Given the description of an element on the screen output the (x, y) to click on. 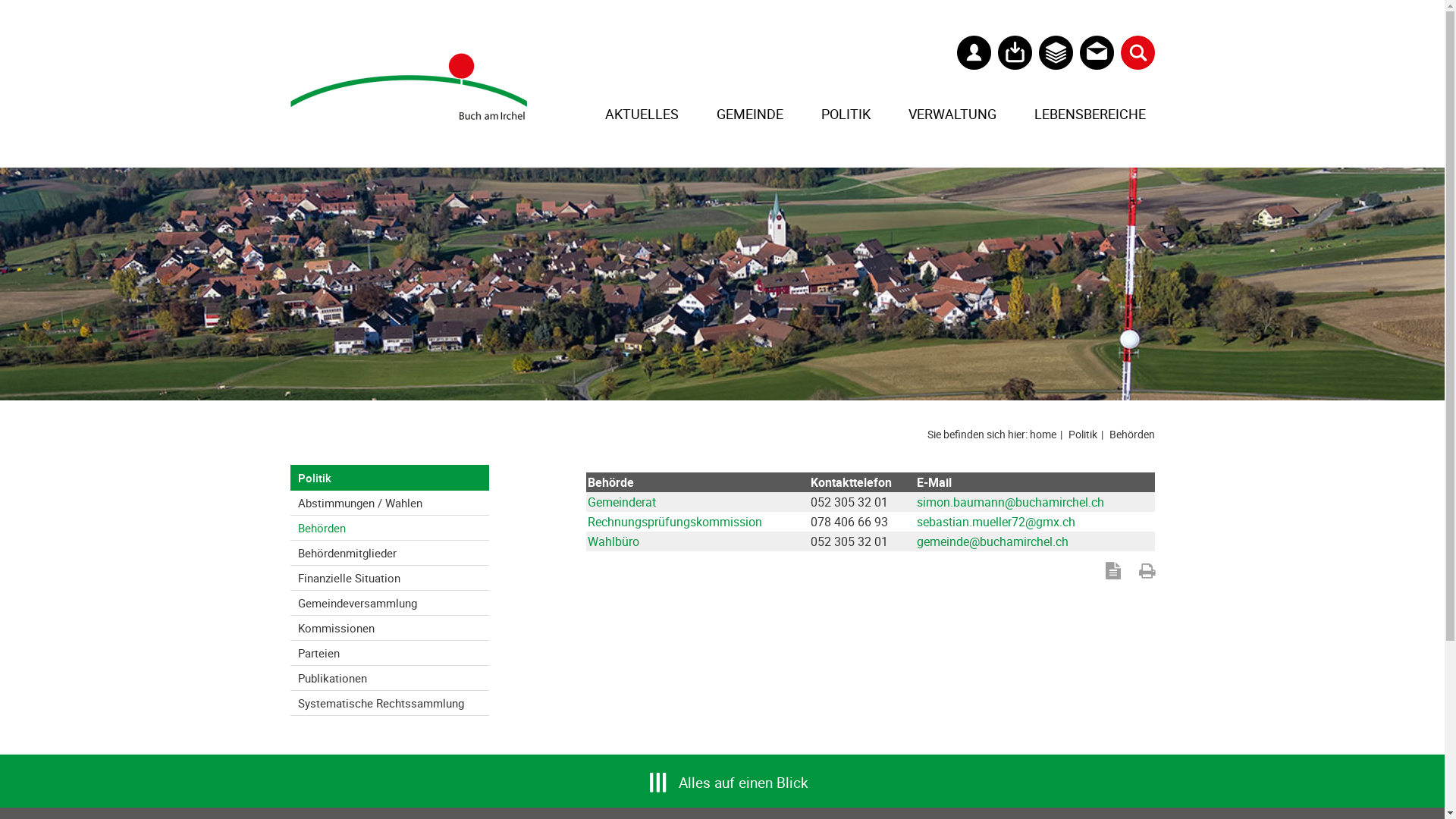
Alles auf einen Blick Element type: text (722, 780)
simon.baumann@buchamirchel.ch Element type: text (1010, 501)
sebastian.mueller72@gmx.ch Element type: text (995, 521)
AKTUELLES Element type: text (641, 113)
Abstimmungen / Wahlen Element type: text (389, 502)
Publikationen Element type: text (389, 677)
Parteien Element type: text (389, 652)
Gemeinderat Element type: text (620, 501)
GEMEINDE Element type: text (749, 113)
home Element type: text (1047, 433)
Gemeinde Buch am Irchel Element type: hover (407, 85)
Kommissionen Element type: text (389, 627)
Systematische Rechtssammlung Element type: text (389, 702)
Finanzielle Situation Element type: text (389, 577)
Politik Element type: text (1086, 433)
VERWALTUNG Element type: text (952, 113)
POLITIK Element type: text (845, 113)
Gemeindeversammlung Element type: text (389, 602)
gemeinde@buchamirchel.ch Element type: text (992, 541)
Alles auf einen Blick Element type: text (743, 775)
LEBENSBEREICHE Element type: text (1089, 113)
